Given the description of an element on the screen output the (x, y) to click on. 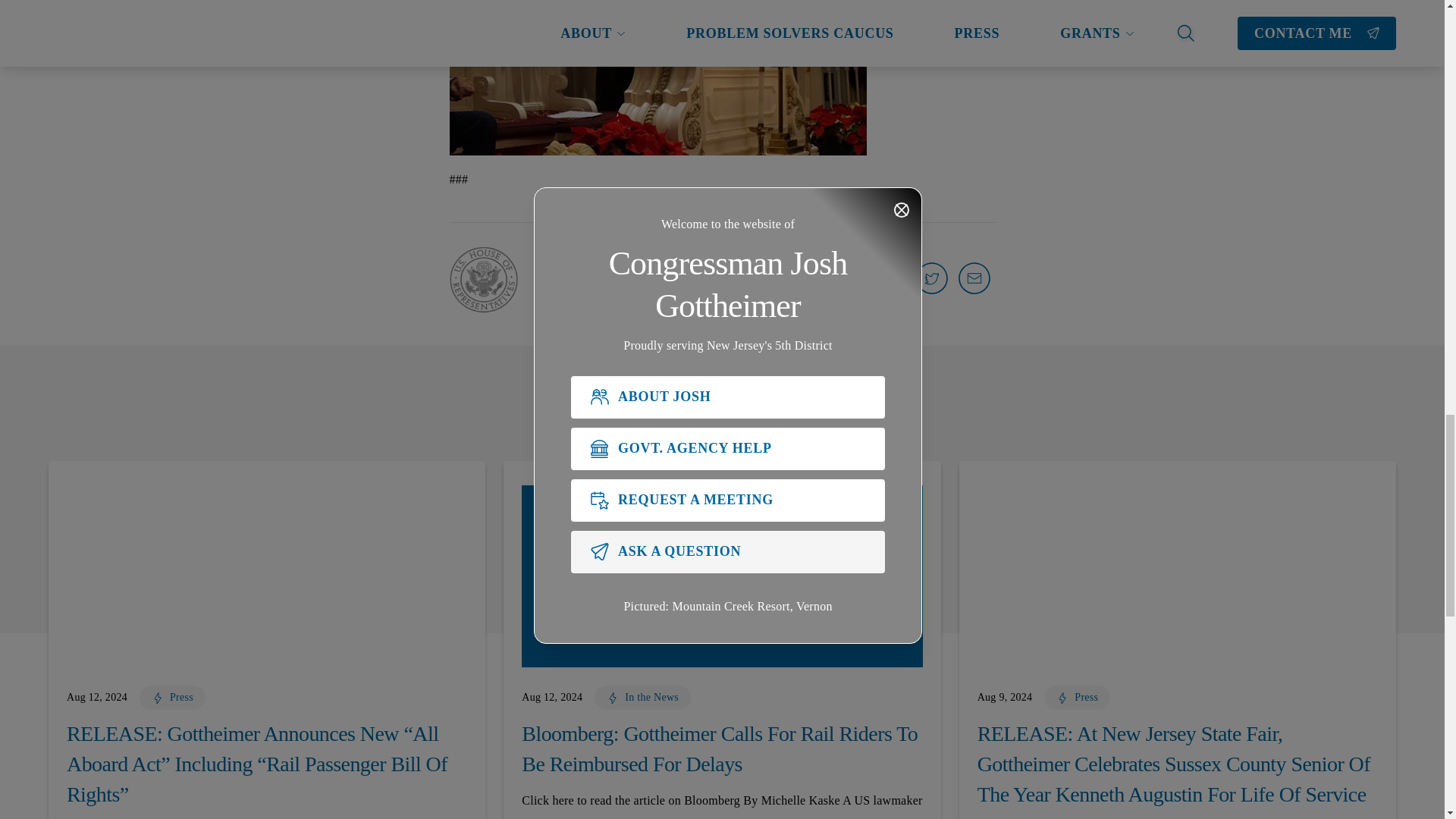
In the News (642, 699)
Press (172, 699)
